Given the description of an element on the screen output the (x, y) to click on. 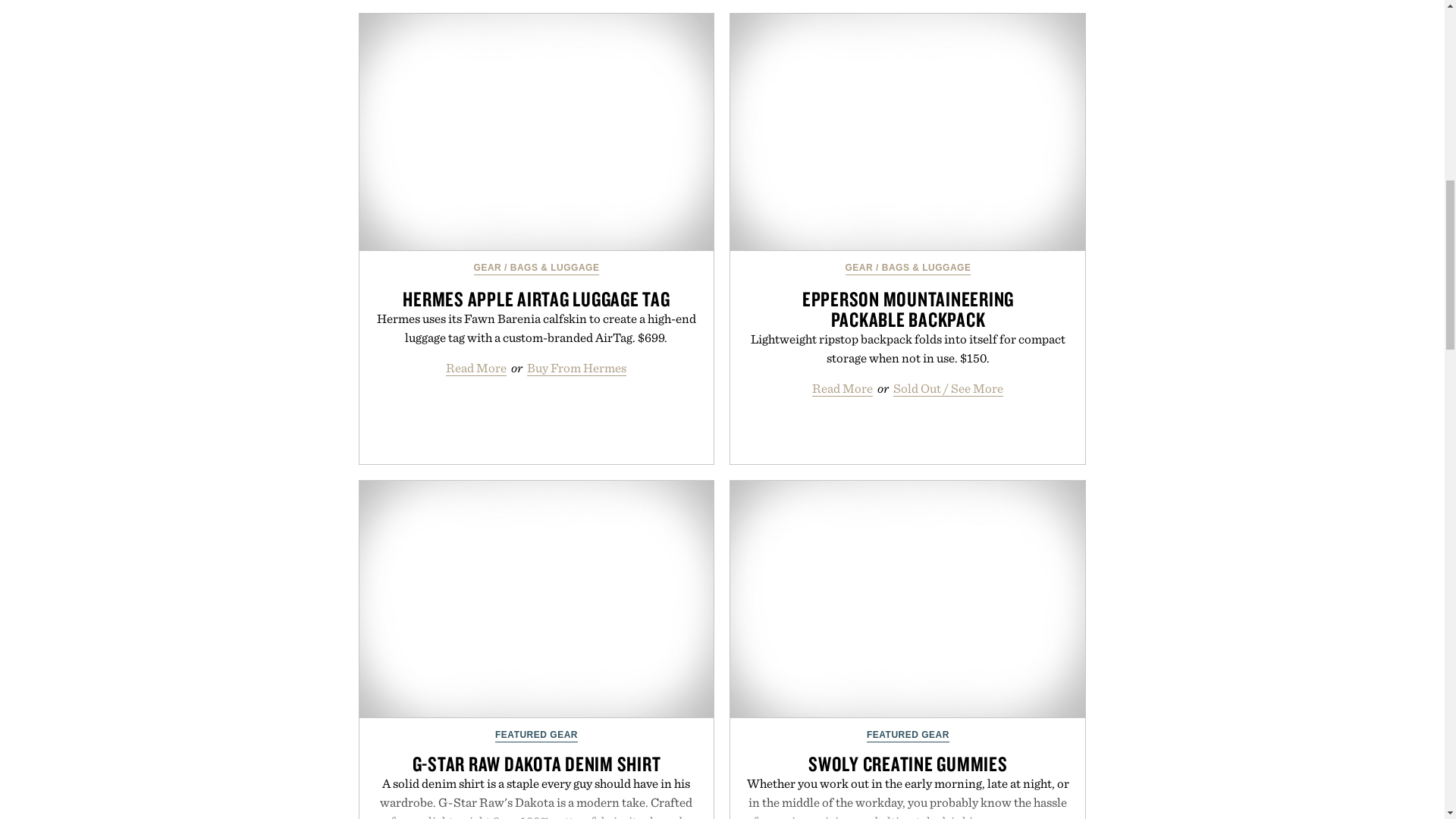
Nike Ja 1 Basketball Shoes (536, 72)
Herschel Supply Co. Tech Daypack (907, 263)
Ooni Koda 2 Max Pizza Oven (907, 72)
Filson Dry Sling Bag (536, 263)
Nike Pegasus 41 Blueprint (536, 505)
Aklasu Tie Collection (907, 505)
